Given the description of an element on the screen output the (x, y) to click on. 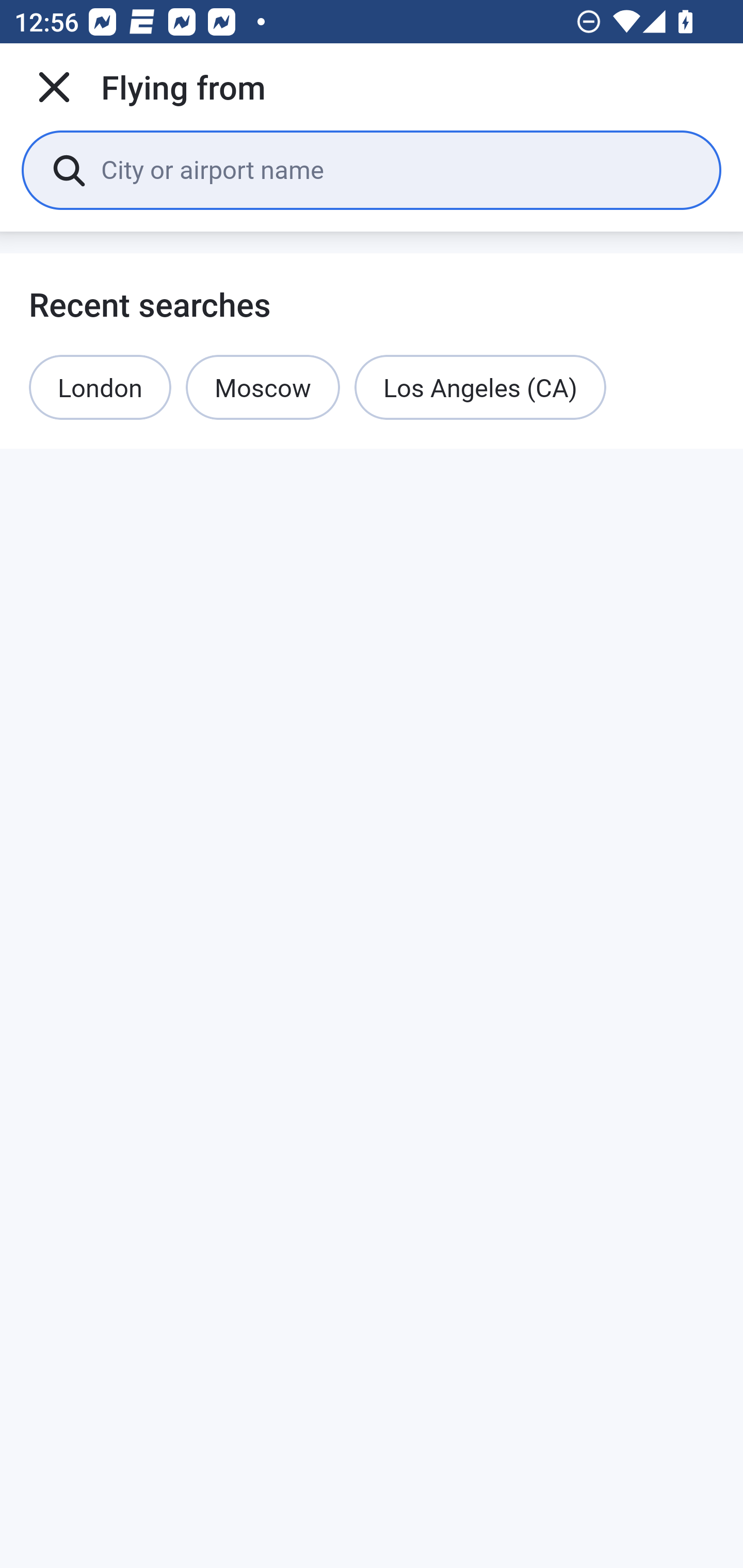
City or airport name (396, 169)
London (99, 387)
Moscow (262, 387)
Los Angeles (CA) (480, 387)
